Given the description of an element on the screen output the (x, y) to click on. 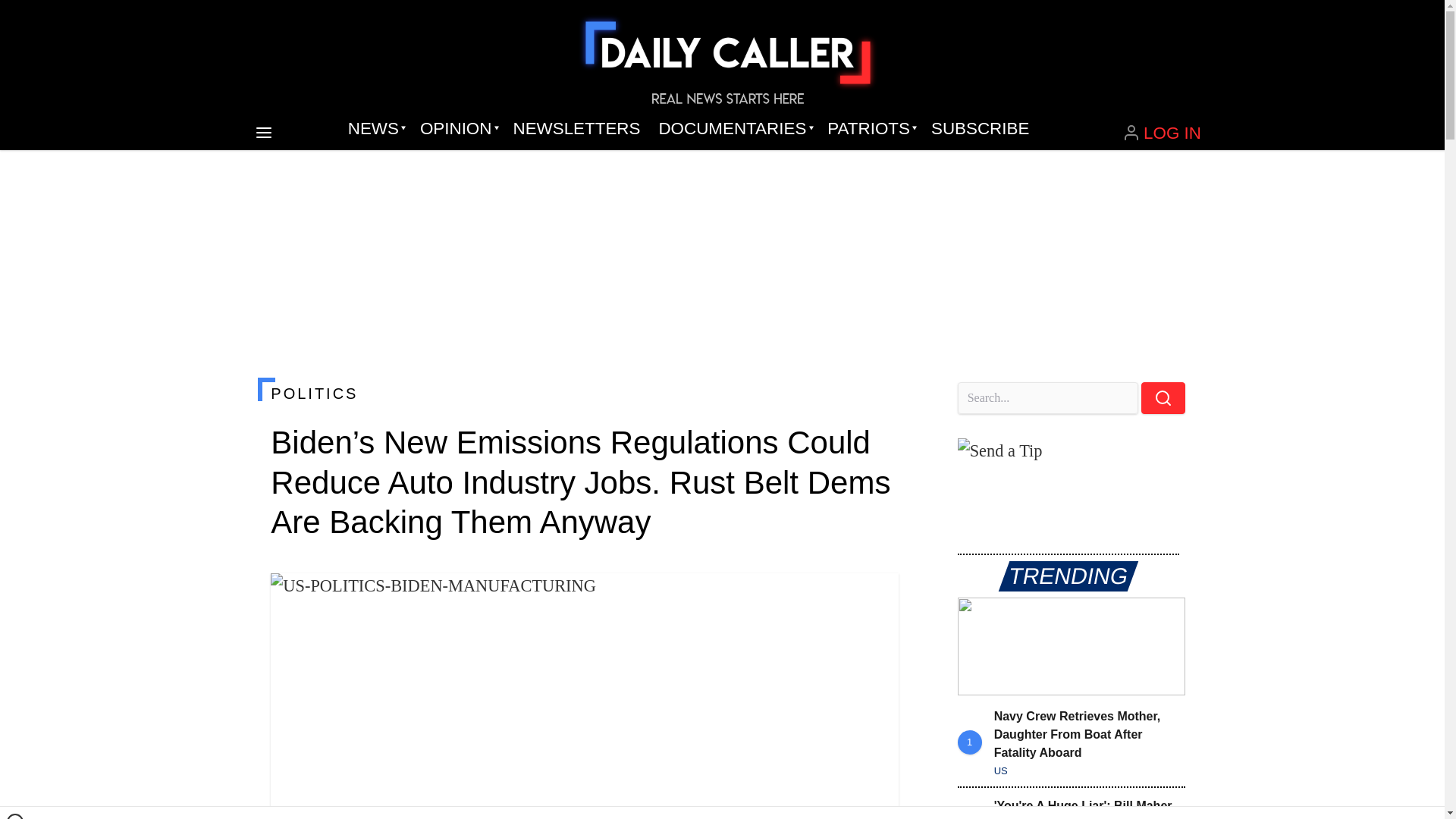
NEWSLETTERS (576, 128)
OPINION (456, 128)
PATRIOTS (869, 128)
Toggle fullscreen (874, 596)
SUBSCRIBE (979, 128)
DOCUMENTARIES (733, 128)
POLITICS (584, 393)
NEWS (374, 128)
